Given the description of an element on the screen output the (x, y) to click on. 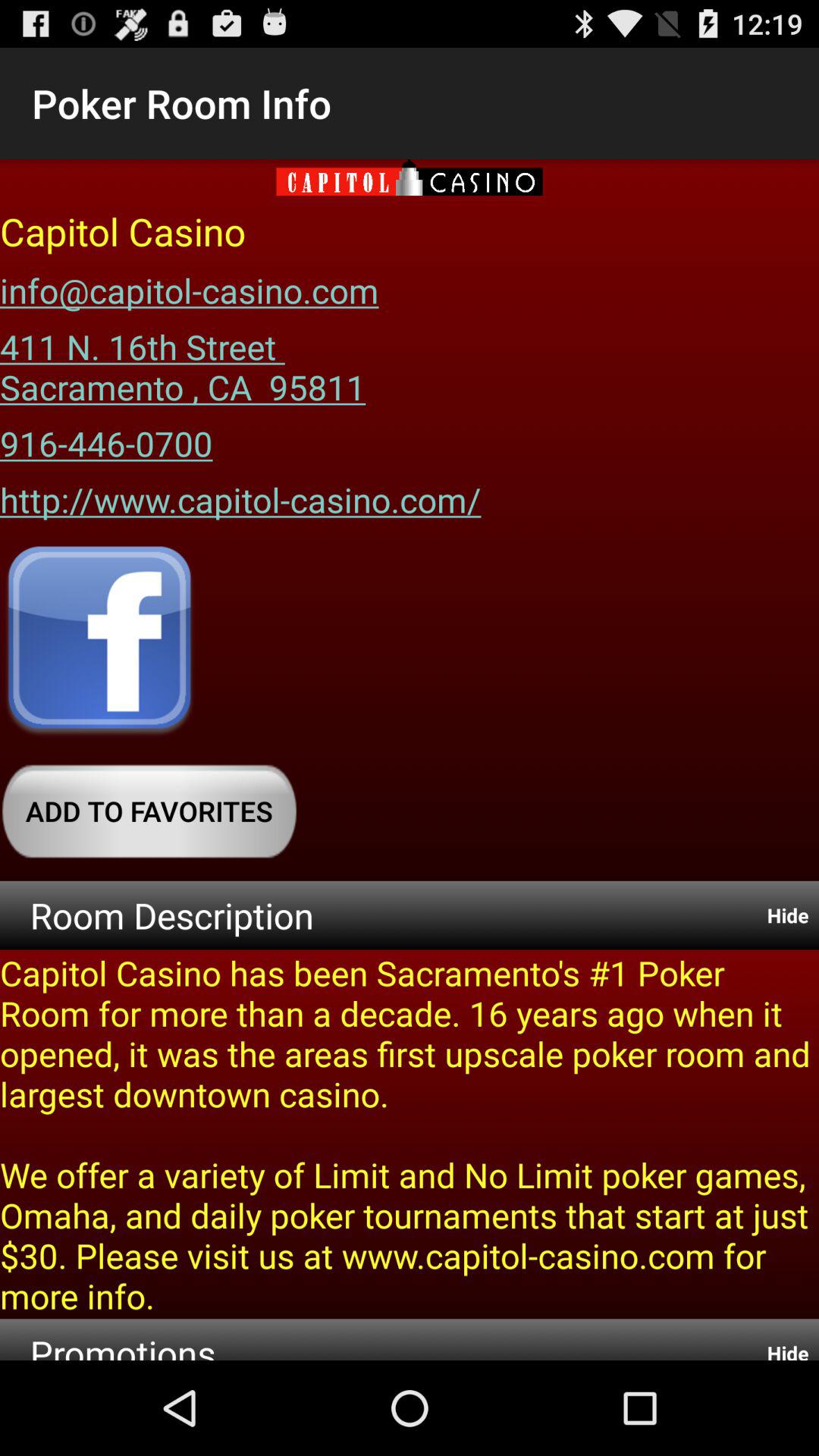
select the 411 n 16th (182, 361)
